Given the description of an element on the screen output the (x, y) to click on. 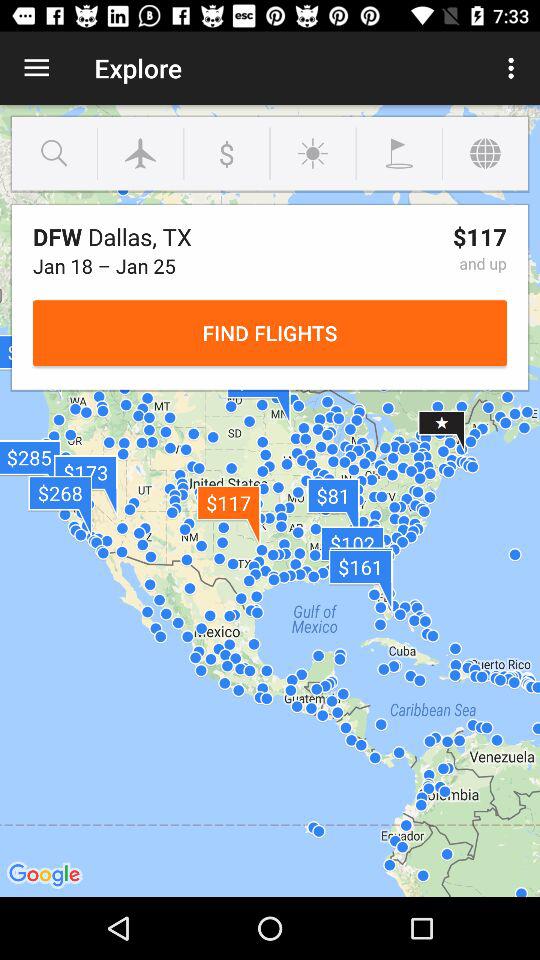
open the icon next to explore item (36, 68)
